Given the description of an element on the screen output the (x, y) to click on. 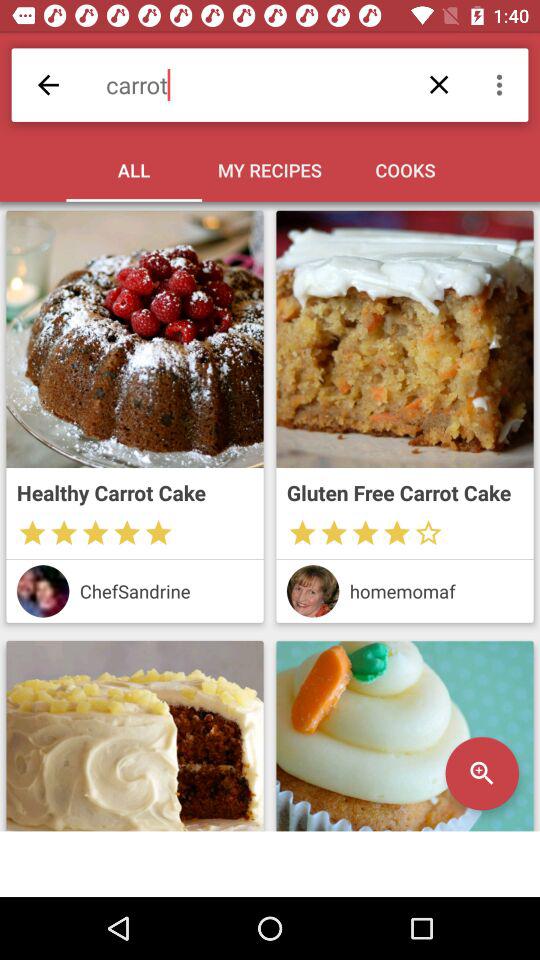
backward (48, 84)
